Given the description of an element on the screen output the (x, y) to click on. 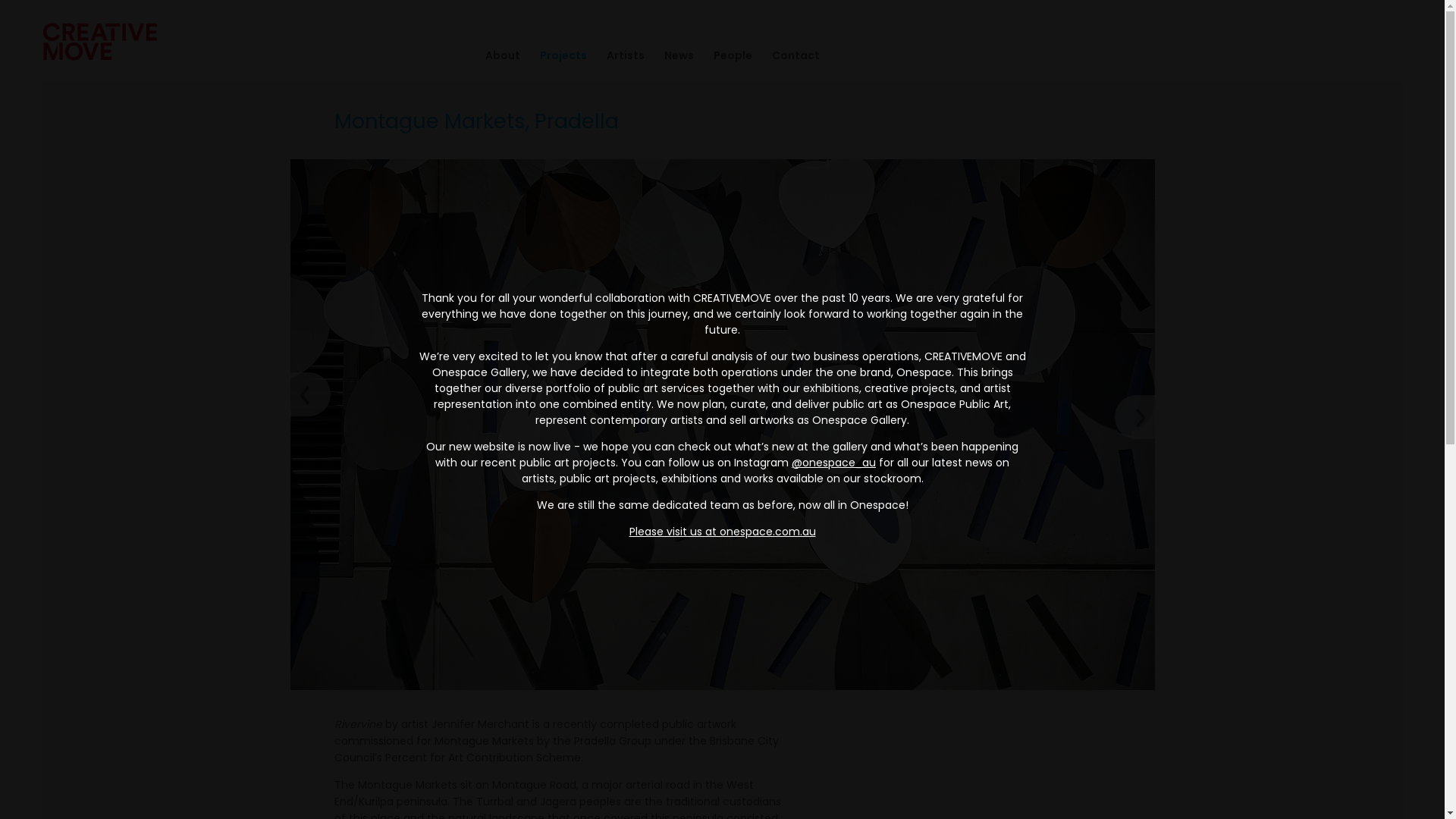
Projects Element type: text (553, 55)
Please visit us at onespace.com.au Element type: text (722, 530)
Contact Element type: text (785, 55)
People Element type: text (722, 55)
News Element type: text (668, 55)
About Element type: text (492, 55)
@onespace_au Element type: text (833, 462)
Artists Element type: text (615, 55)
